Given the description of an element on the screen output the (x, y) to click on. 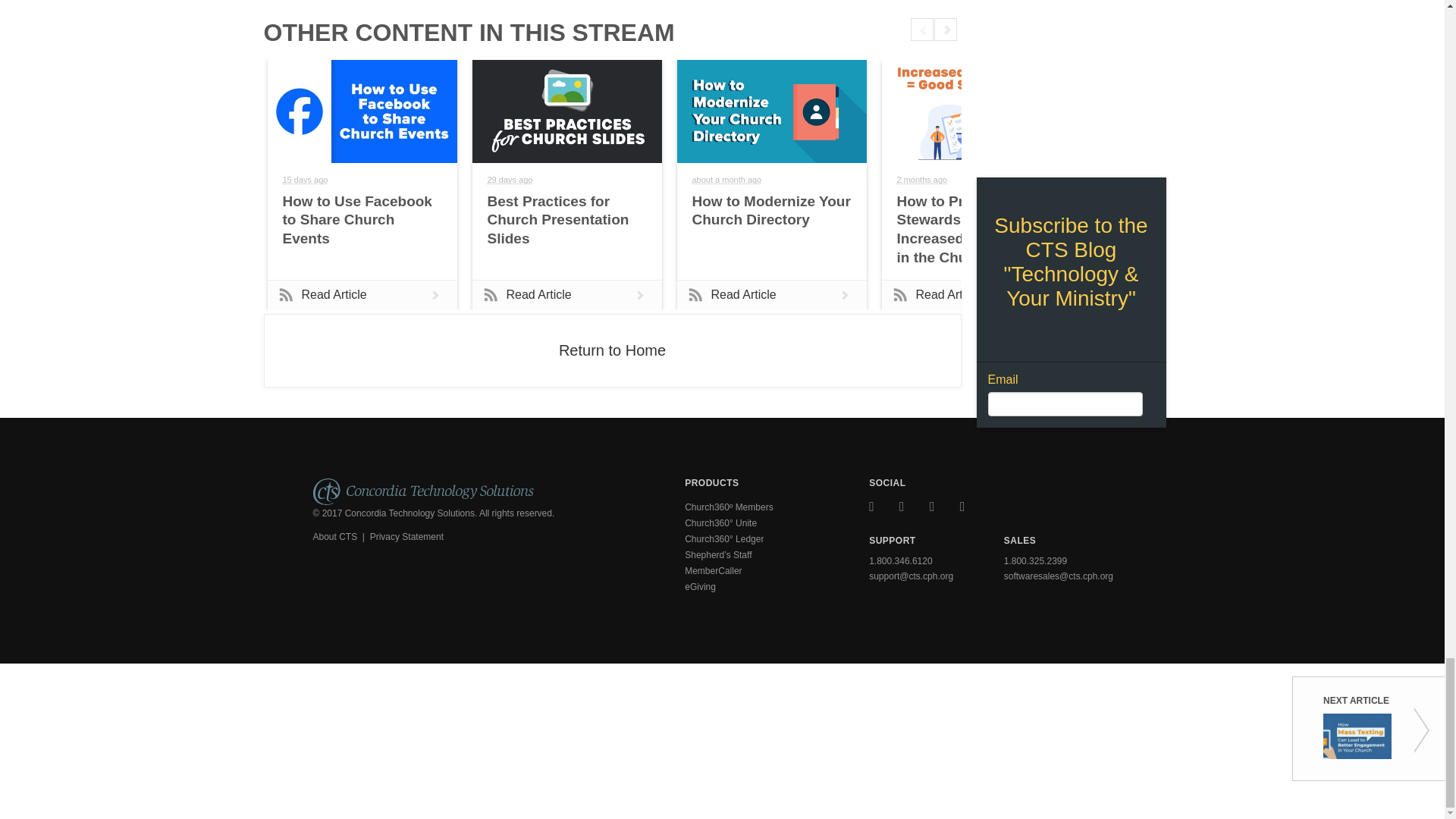
2024-05-28T13:00:00 (921, 179)
2024-06-25T07:00:00 (509, 179)
2024-07-09T07:00:00 (304, 179)
2024-06-11T07:00:00 (726, 179)
